Given the description of an element on the screen output the (x, y) to click on. 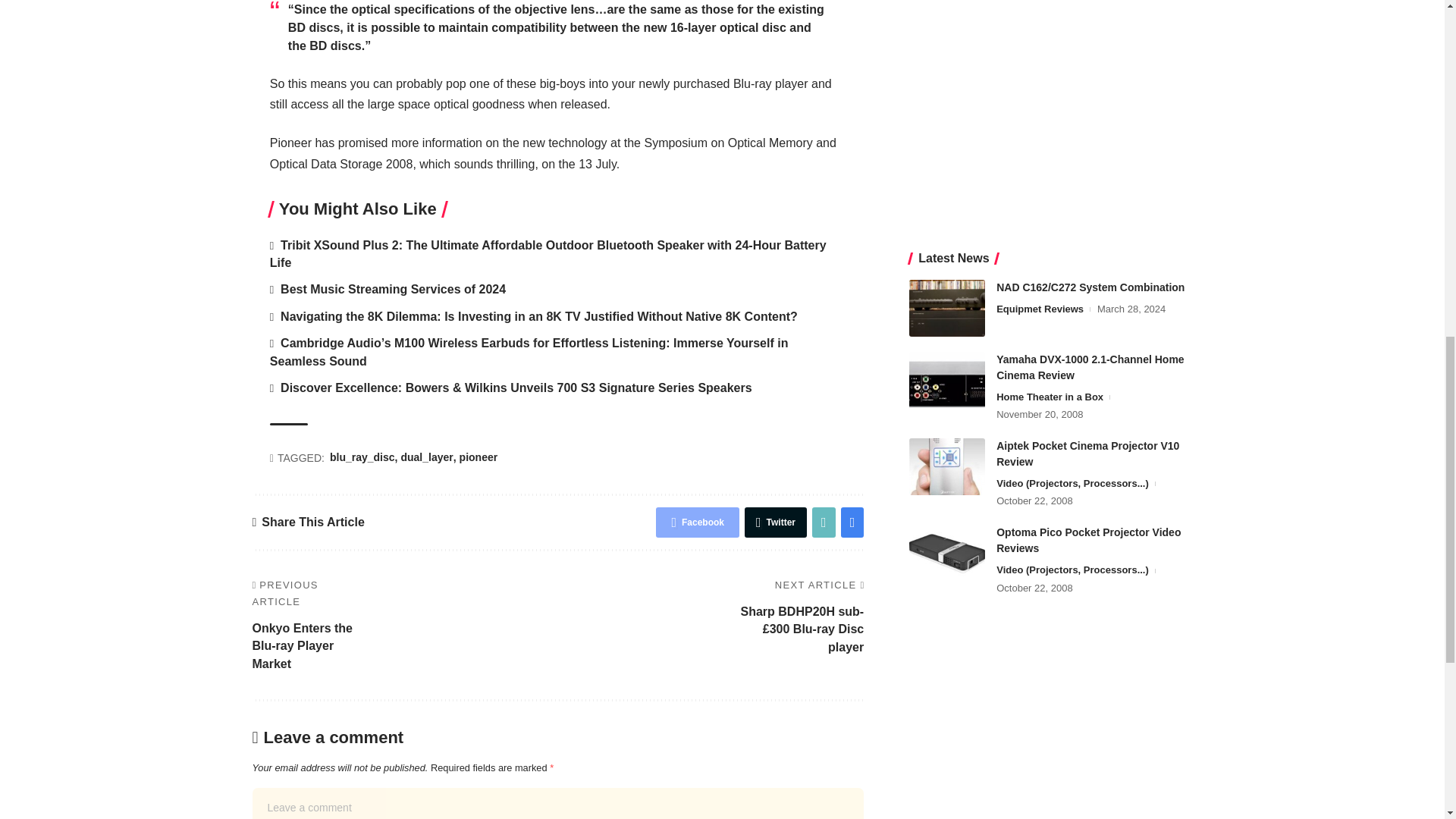
Optoma Pico Pocket Projector Video Reviews (946, 17)
